Given the description of an element on the screen output the (x, y) to click on. 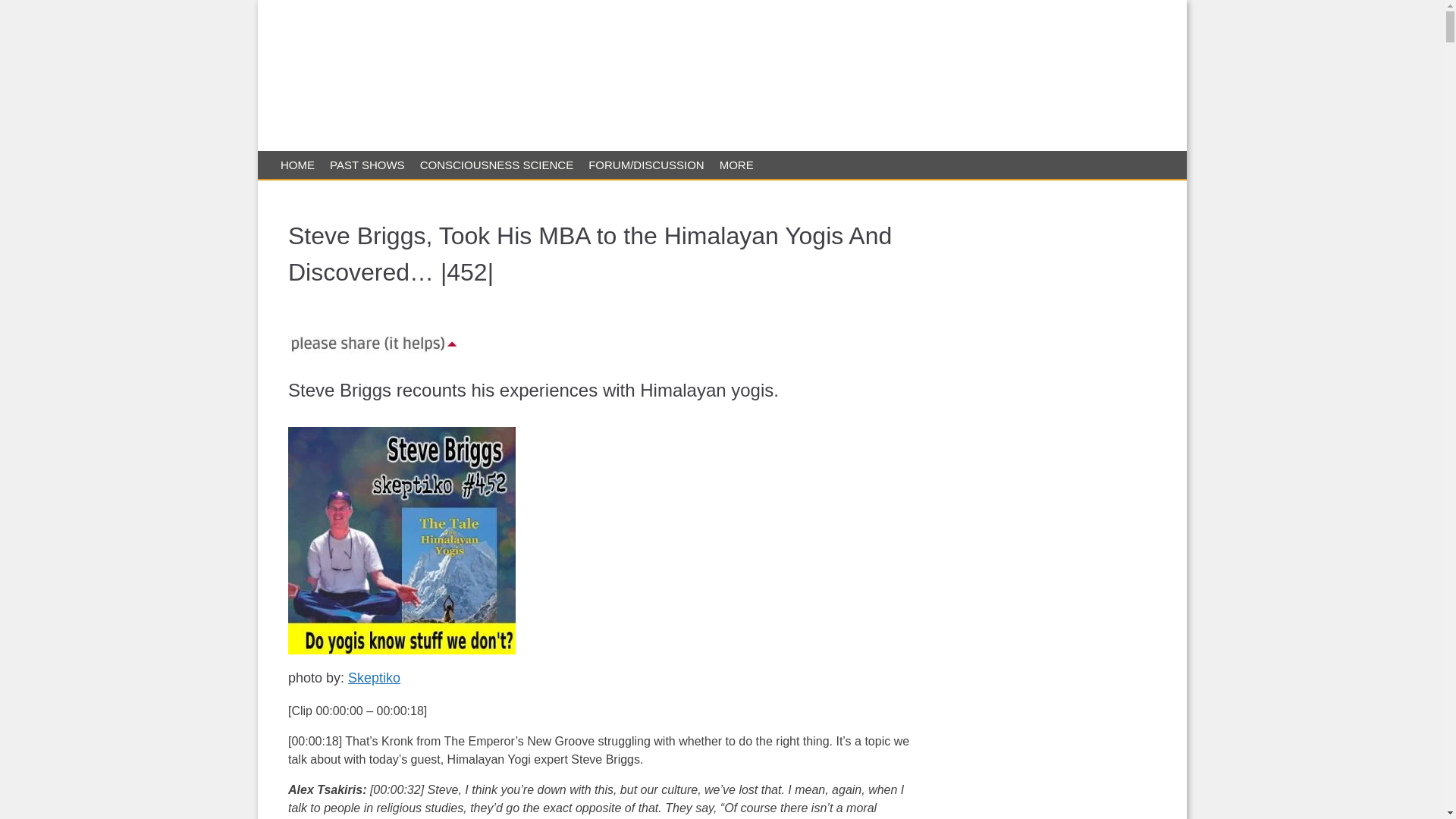
Skeptiko (373, 677)
PAST SHOWS (366, 164)
MORE (736, 164)
HOME (297, 164)
CONSCIOUSNESS SCIENCE (496, 164)
